Given the description of an element on the screen output the (x, y) to click on. 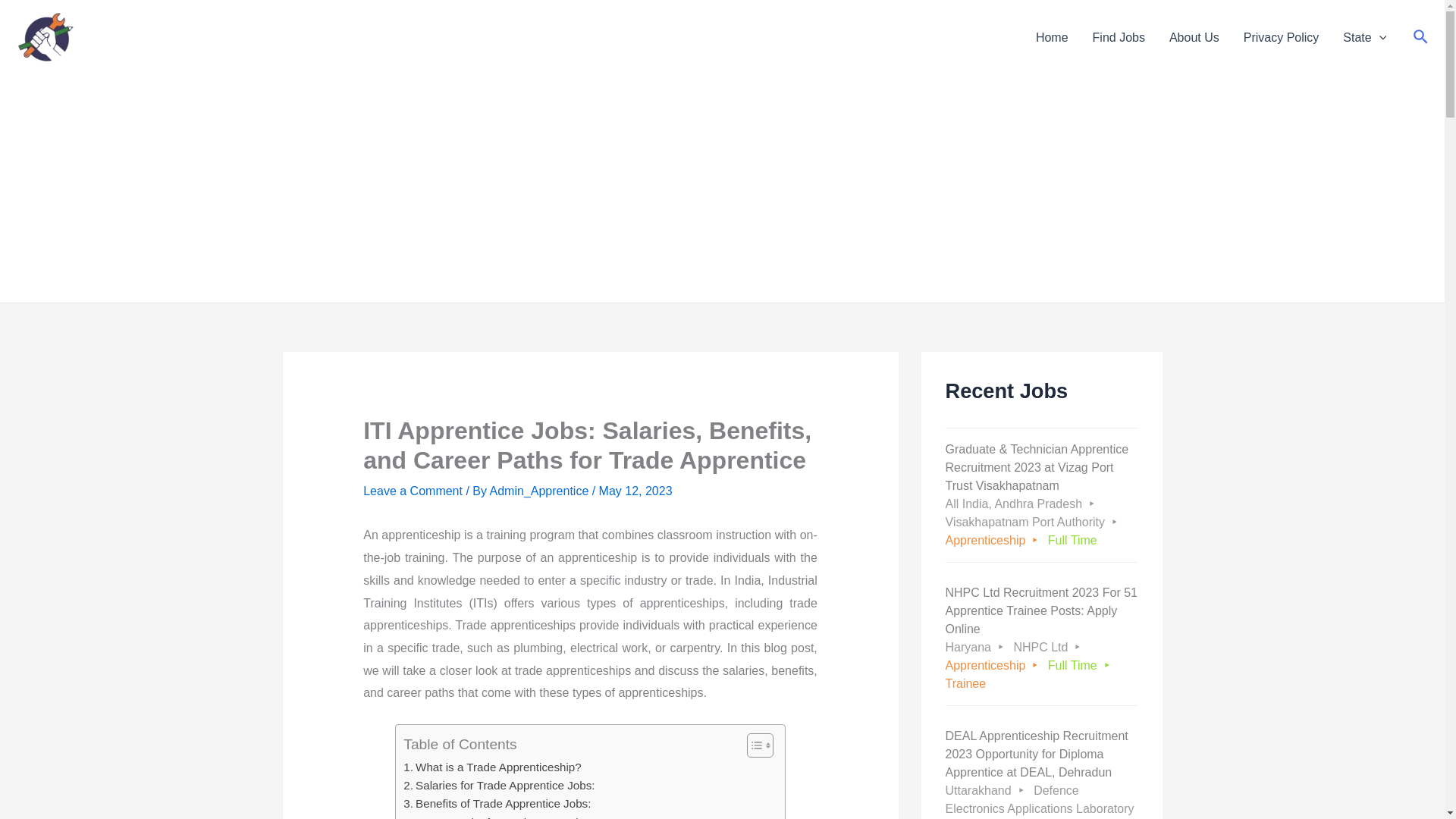
What is a Trade Apprenticeship? (491, 767)
State (1363, 37)
Find Jobs (1118, 37)
Home (1051, 37)
Privacy Policy (1281, 37)
Benefits of Trade Apprentice Jobs: (497, 803)
Benefits of Trade Apprentice Jobs: (497, 803)
Leave a Comment (412, 490)
Career Paths for Trade Apprentices: (500, 816)
About Us (1194, 37)
Salaries for Trade Apprentice Jobs: (498, 785)
Career Paths for Trade Apprentices: (500, 816)
Salaries for Trade Apprentice Jobs: (498, 785)
What is a Trade Apprenticeship? (491, 767)
